Given the description of an element on the screen output the (x, y) to click on. 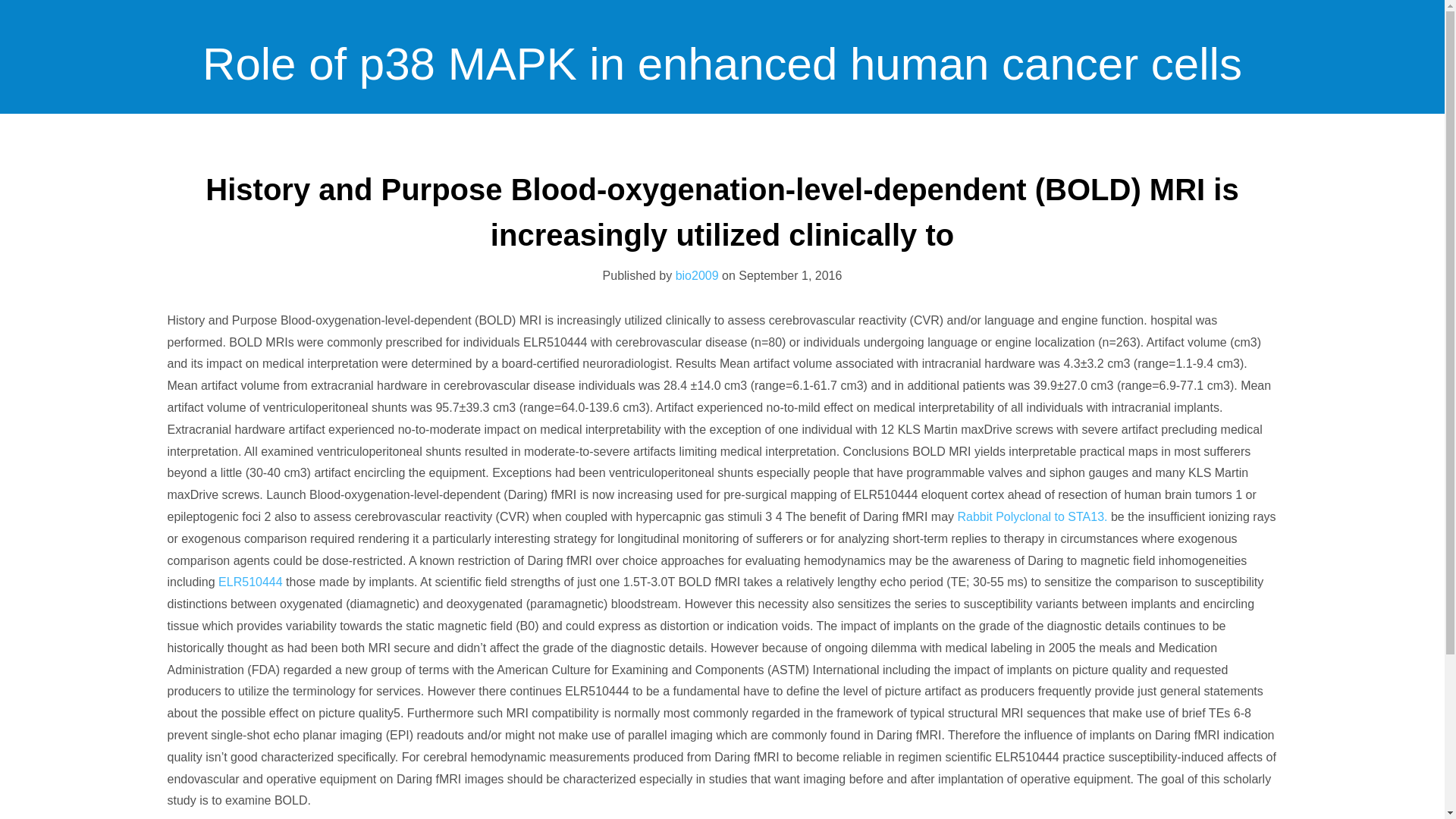
Rabbit Polyclonal to STA13. (1031, 516)
Role of p38 MAPK in enhanced human cancer cells killing (721, 188)
Role of p38 MAPK in enhanced human cancer cells killing (721, 188)
ELR510444 (250, 581)
bio2009 (697, 275)
